Given the description of an element on the screen output the (x, y) to click on. 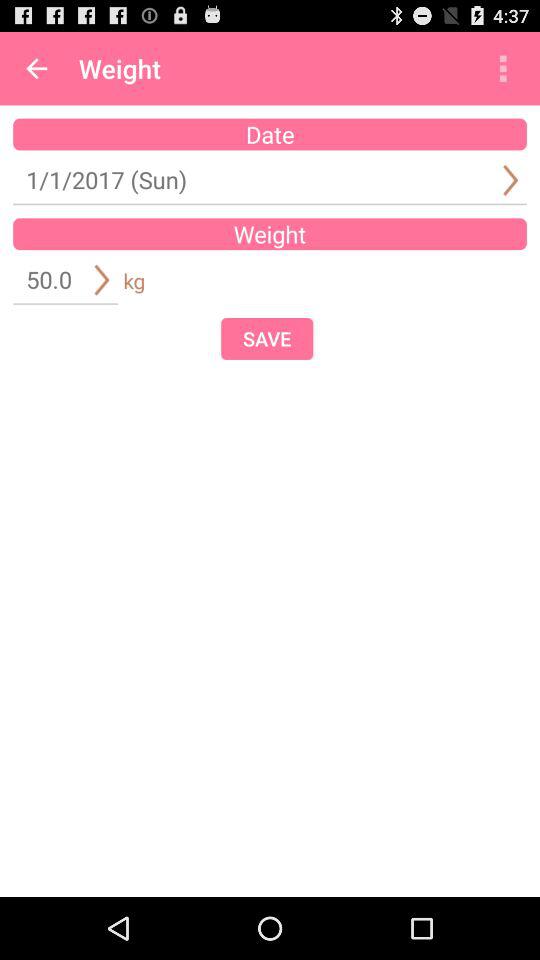
turn on app to the left of weight app (36, 68)
